Given the description of an element on the screen output the (x, y) to click on. 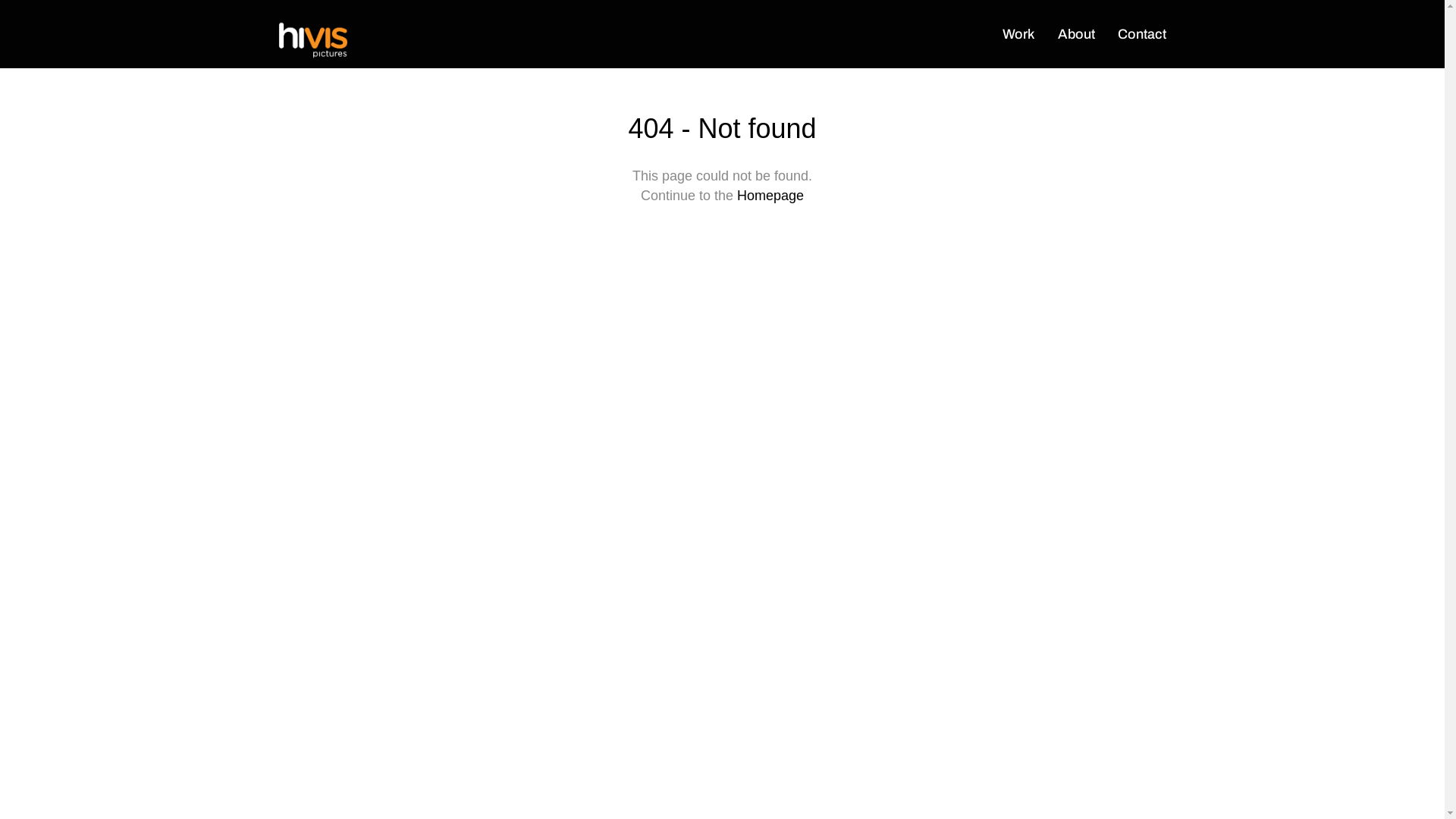
Homepage Element type: text (770, 195)
About Element type: text (1087, 33)
Work Element type: text (1029, 33)
HiVis Pictures Element type: hover (313, 41)
Contact Element type: text (1141, 33)
